Given the description of an element on the screen output the (x, y) to click on. 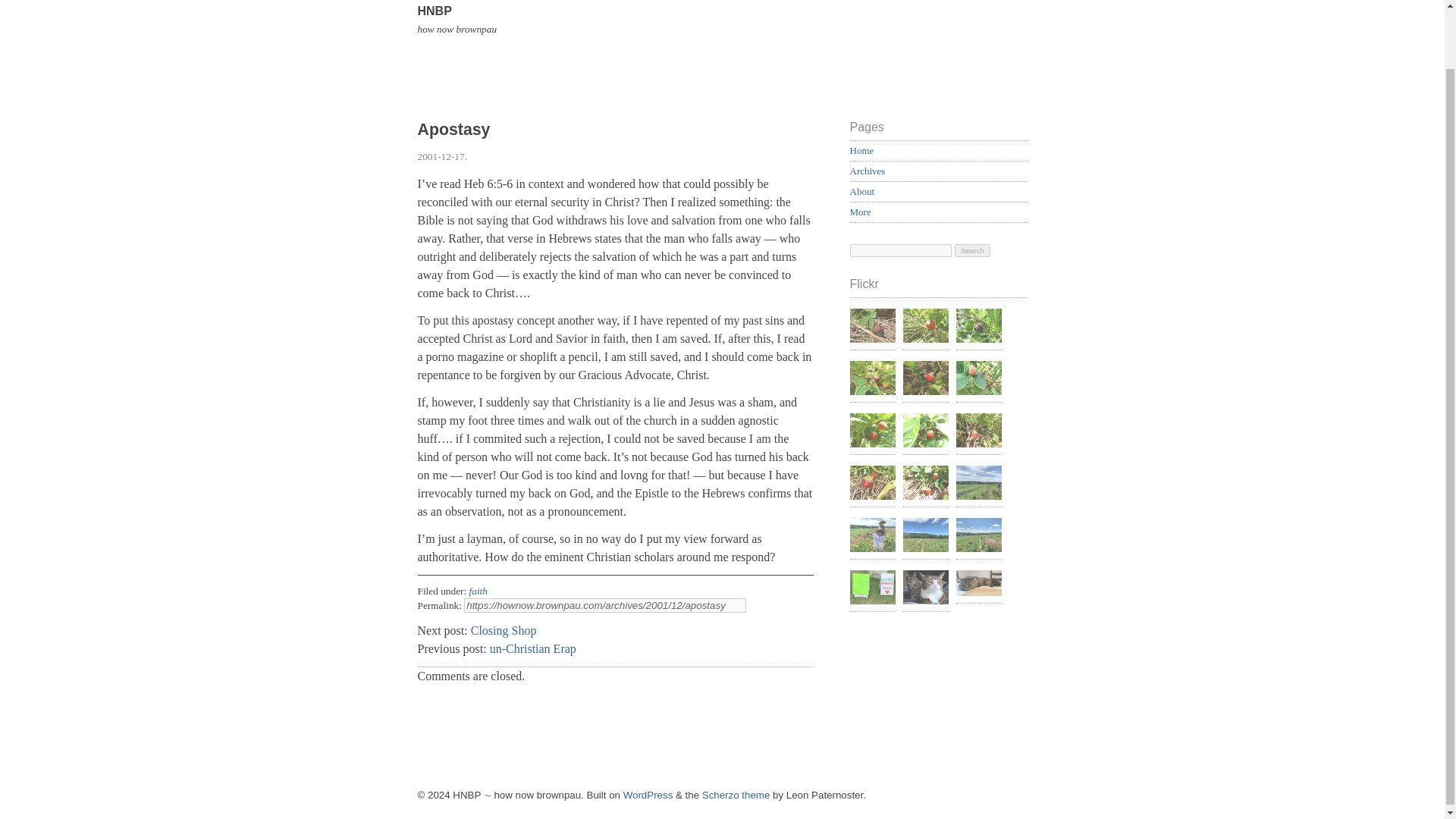
WordPress (647, 794)
About (861, 191)
Strawberry Picking (871, 484)
Strawberry Picking (924, 379)
Strawberry Picking (978, 379)
Strawberry Picking, Annapolis Valley NS (978, 536)
Strawberry Picking, Annapolis Valley NS (924, 536)
faith (477, 591)
Strawberry Picking (924, 327)
Rotten Strawberry (871, 379)
Archives (866, 170)
Go to home page (721, 51)
Search (972, 250)
Rotten Strawberry (978, 327)
Strawberry Picking, Annapolis Valley NS (978, 484)
